Given the description of an element on the screen output the (x, y) to click on. 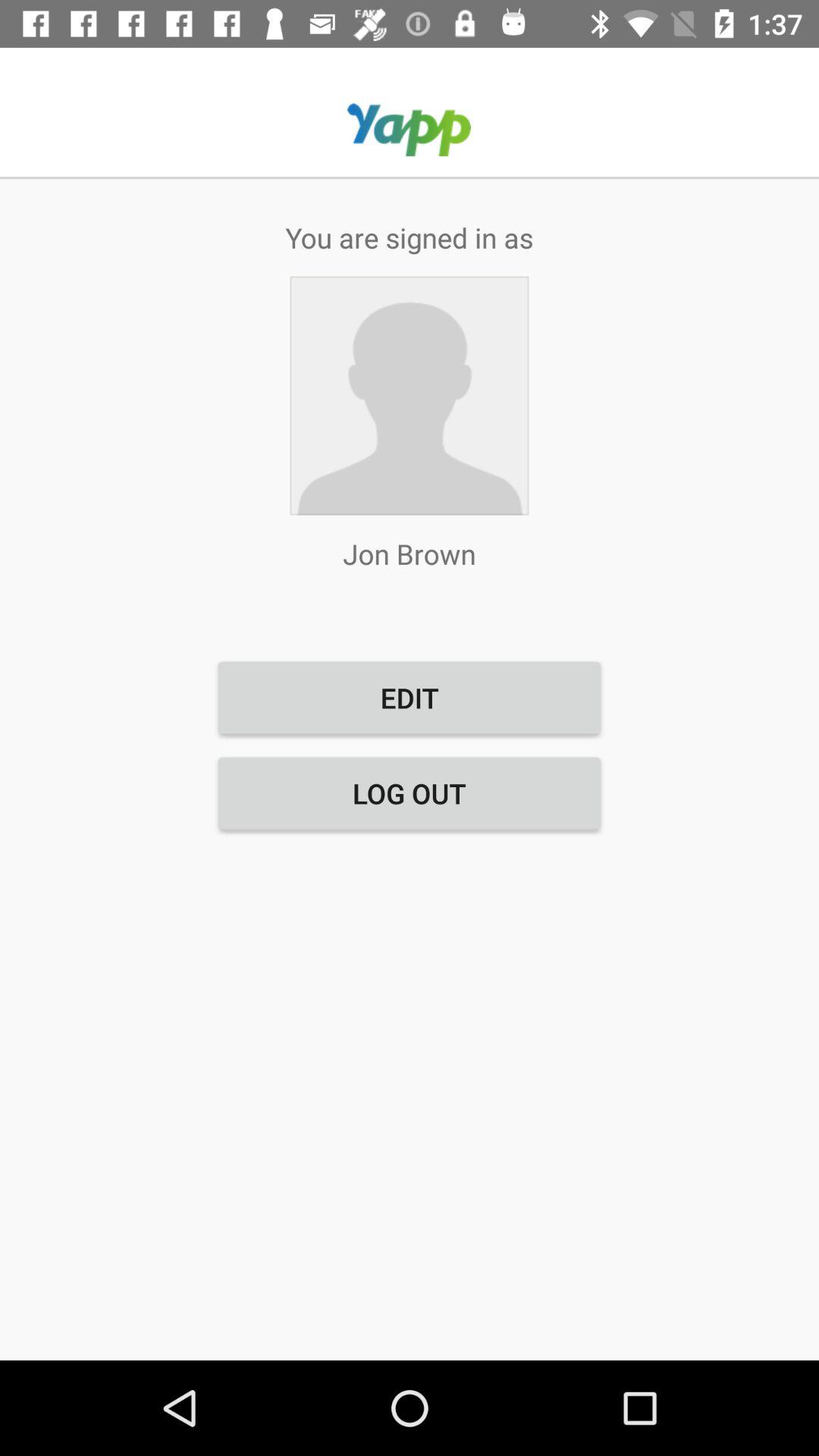
select log out icon (409, 793)
